Given the description of an element on the screen output the (x, y) to click on. 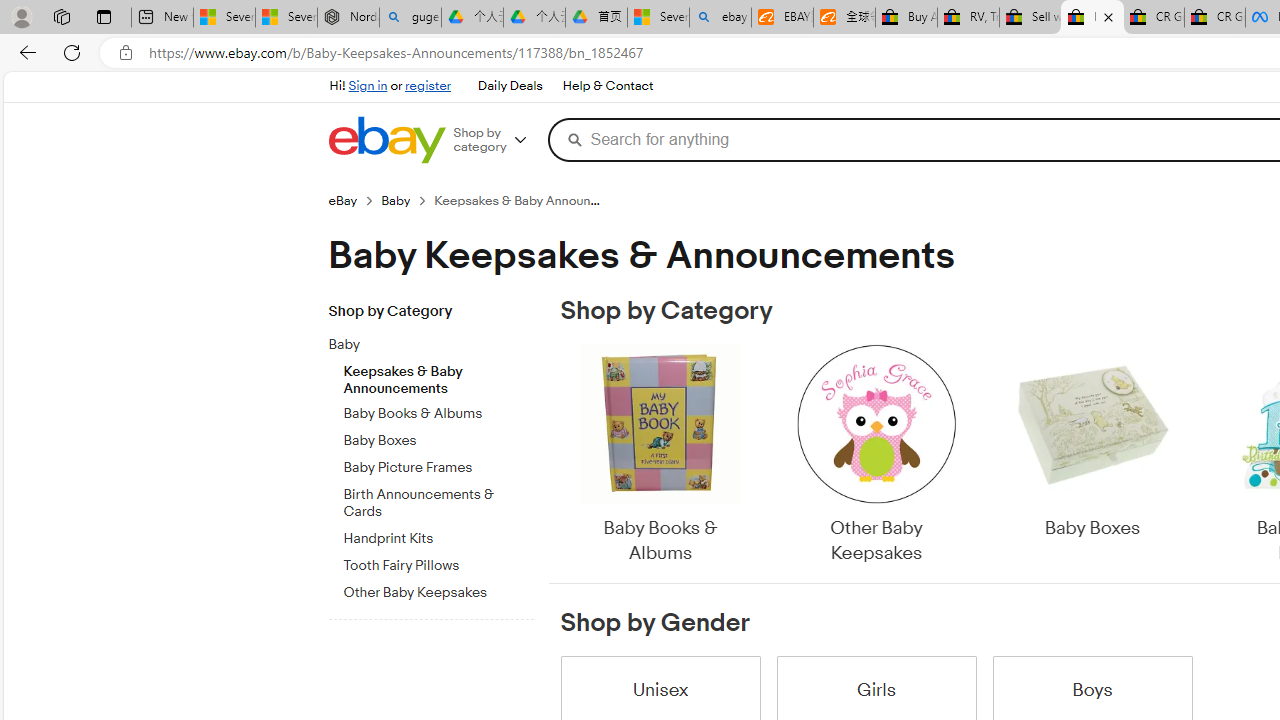
register (427, 85)
